Given the description of an element on the screen output the (x, y) to click on. 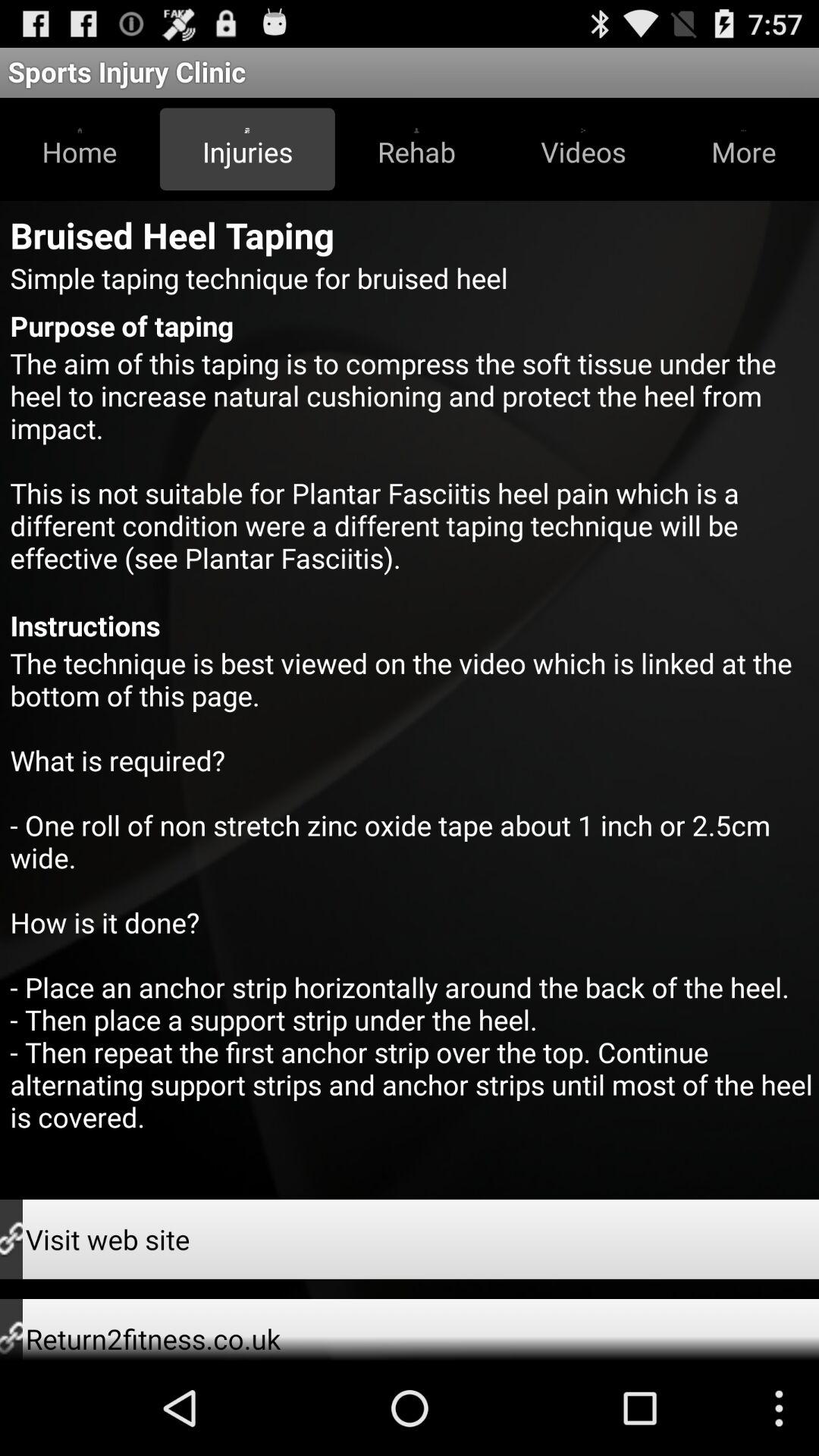
press the videos icon (583, 149)
